Given the description of an element on the screen output the (x, y) to click on. 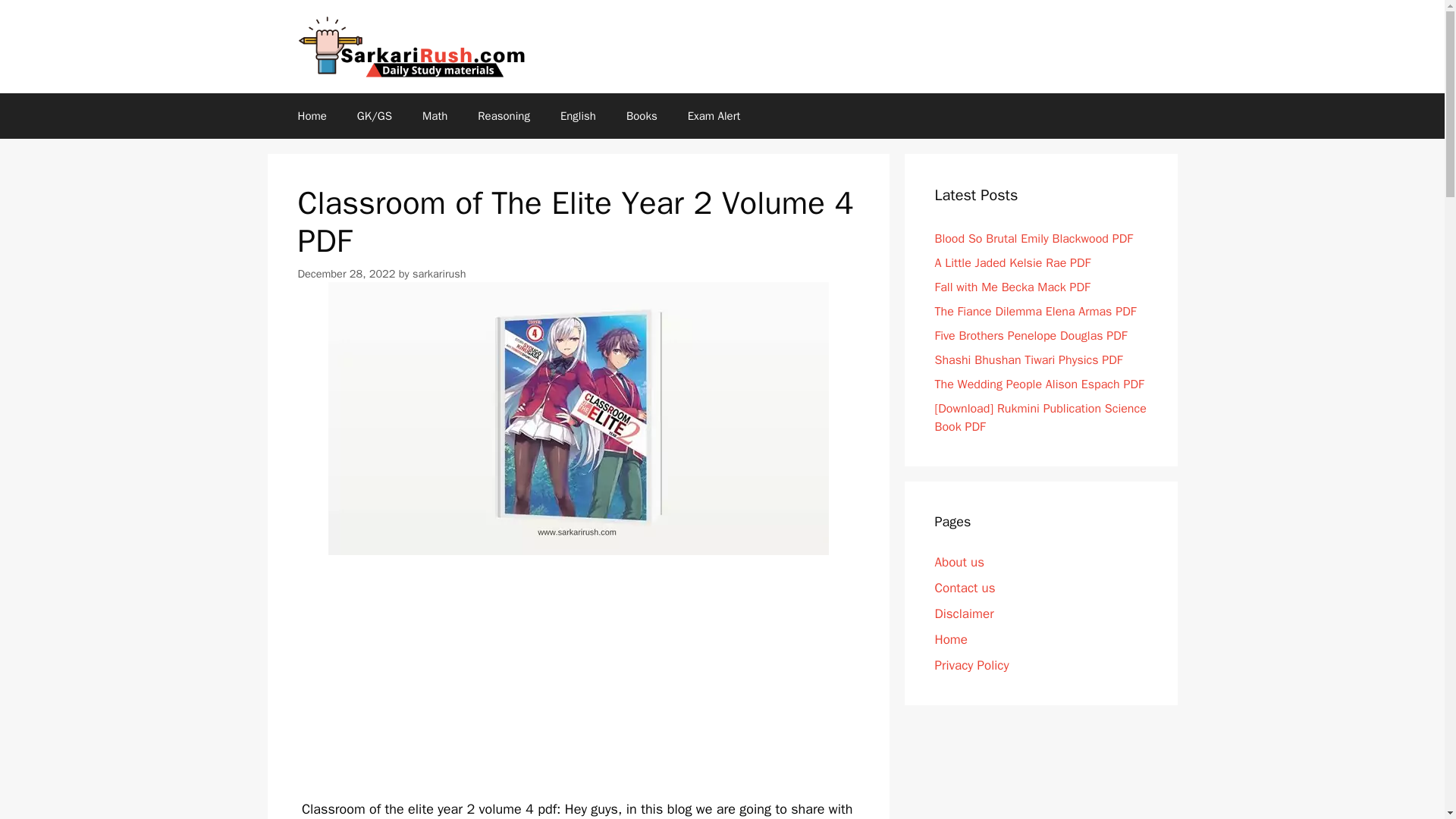
Home (311, 115)
View all posts by sarkarirush (438, 273)
Math (435, 115)
sarkarirush (438, 273)
Reasoning (503, 115)
English (577, 115)
Books (641, 115)
Advertisement (578, 686)
Exam Alert (713, 115)
